Given the description of an element on the screen output the (x, y) to click on. 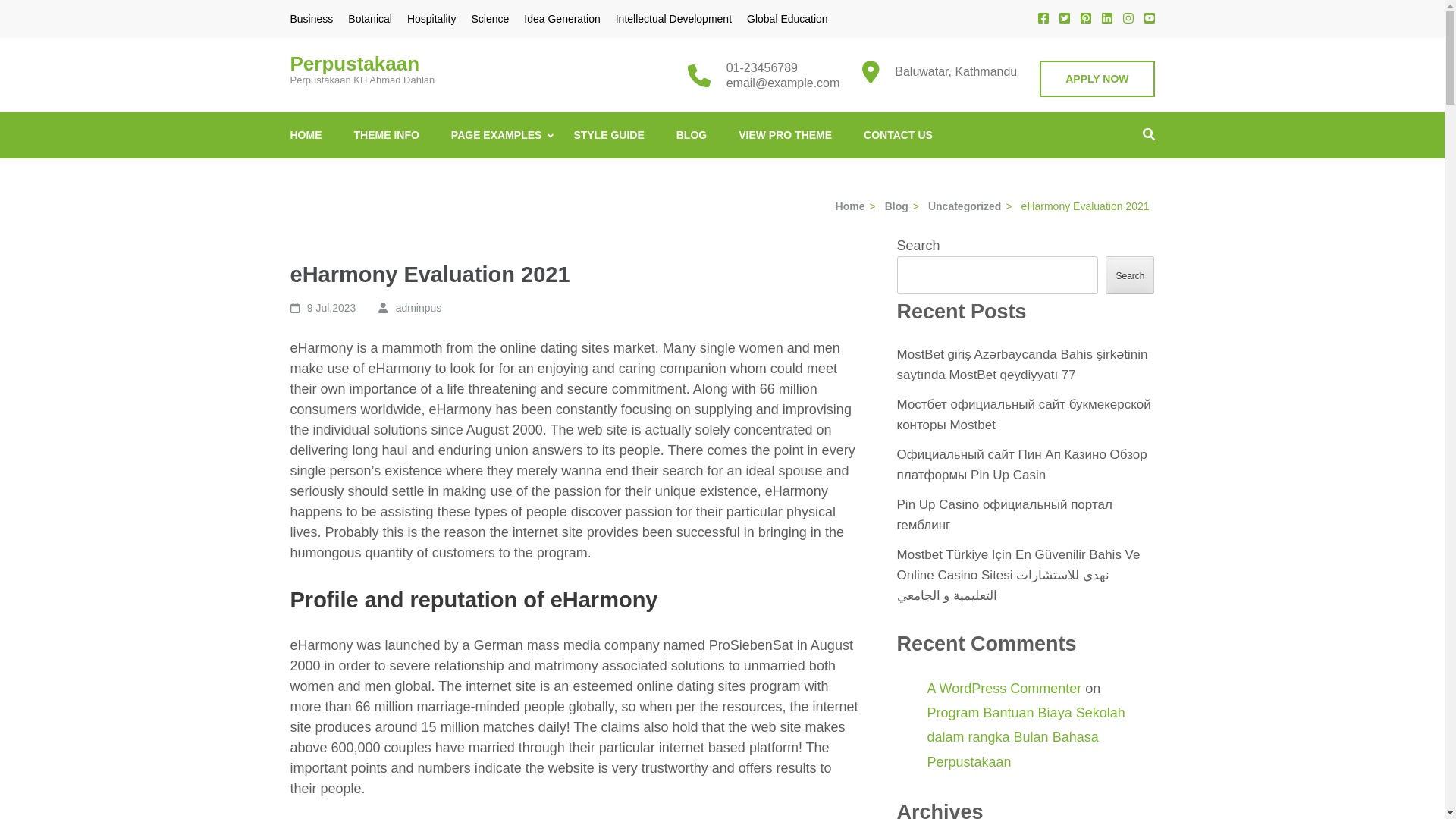
Business (311, 19)
Botanical (369, 19)
Intellectual Development (673, 19)
Science (490, 19)
Idea Generation (561, 19)
Hospitality (432, 19)
